Given the description of an element on the screen output the (x, y) to click on. 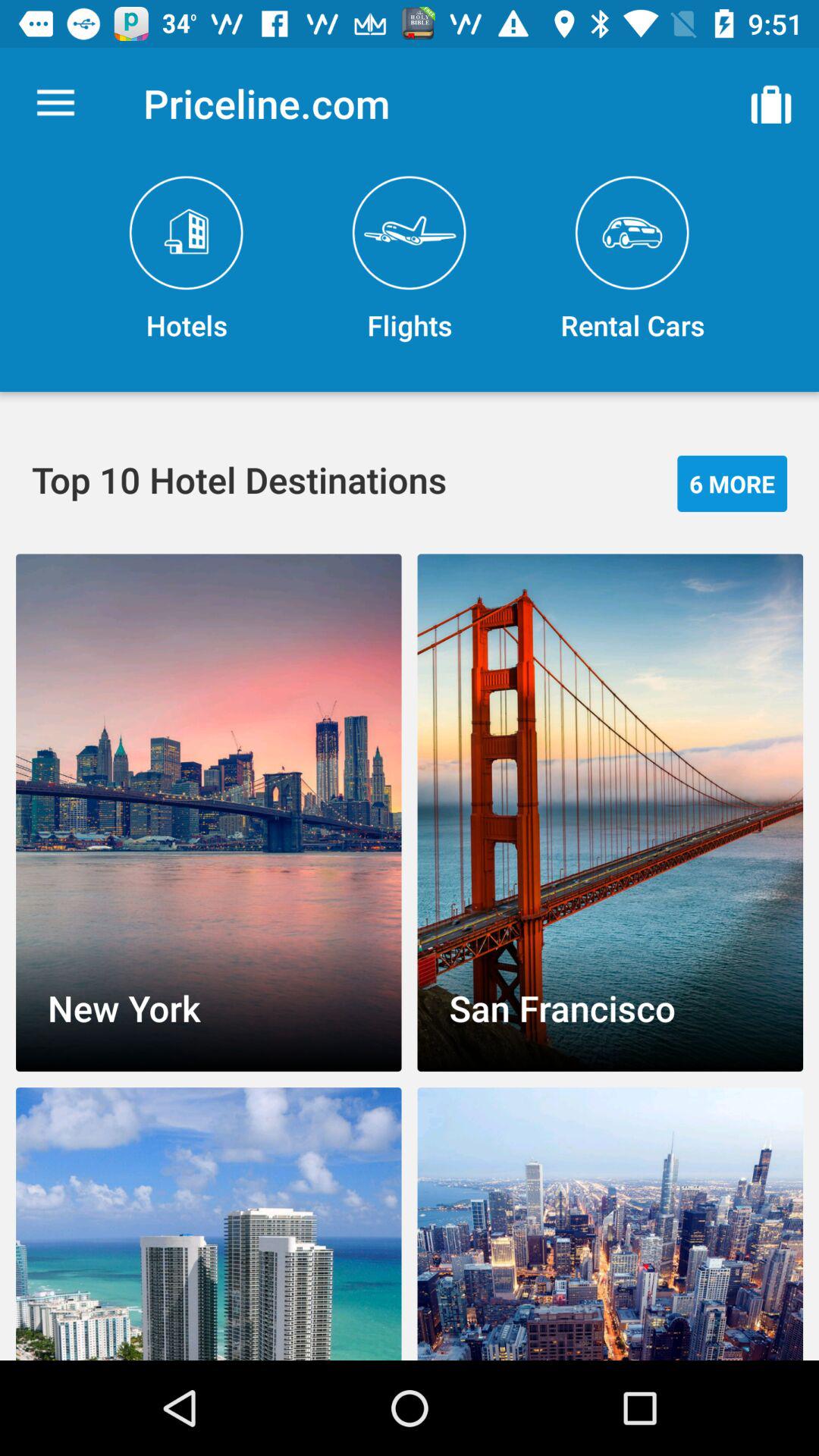
press the rental cars (631, 259)
